Given the description of an element on the screen output the (x, y) to click on. 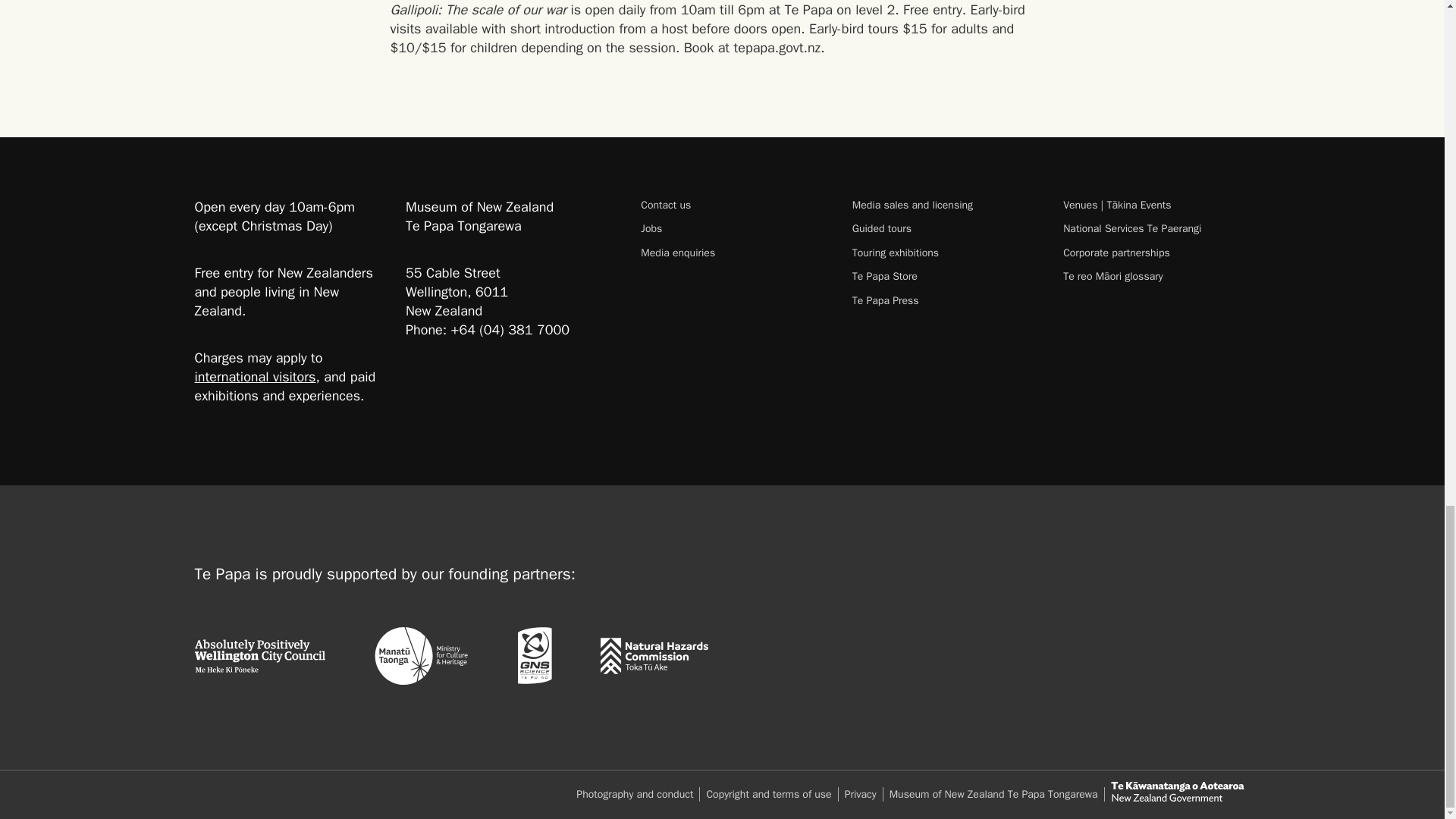
Guided tours (945, 228)
Corporate partnerships (1155, 252)
Te Papa Store (945, 276)
Photography and conduct (638, 794)
Contact us (733, 205)
Media sales and licensing (945, 205)
Touring exhibitions (945, 252)
Privacy (863, 794)
Media enquiries (733, 252)
Museum of New Zealand Te Papa Tongarewa (997, 794)
